Given the description of an element on the screen output the (x, y) to click on. 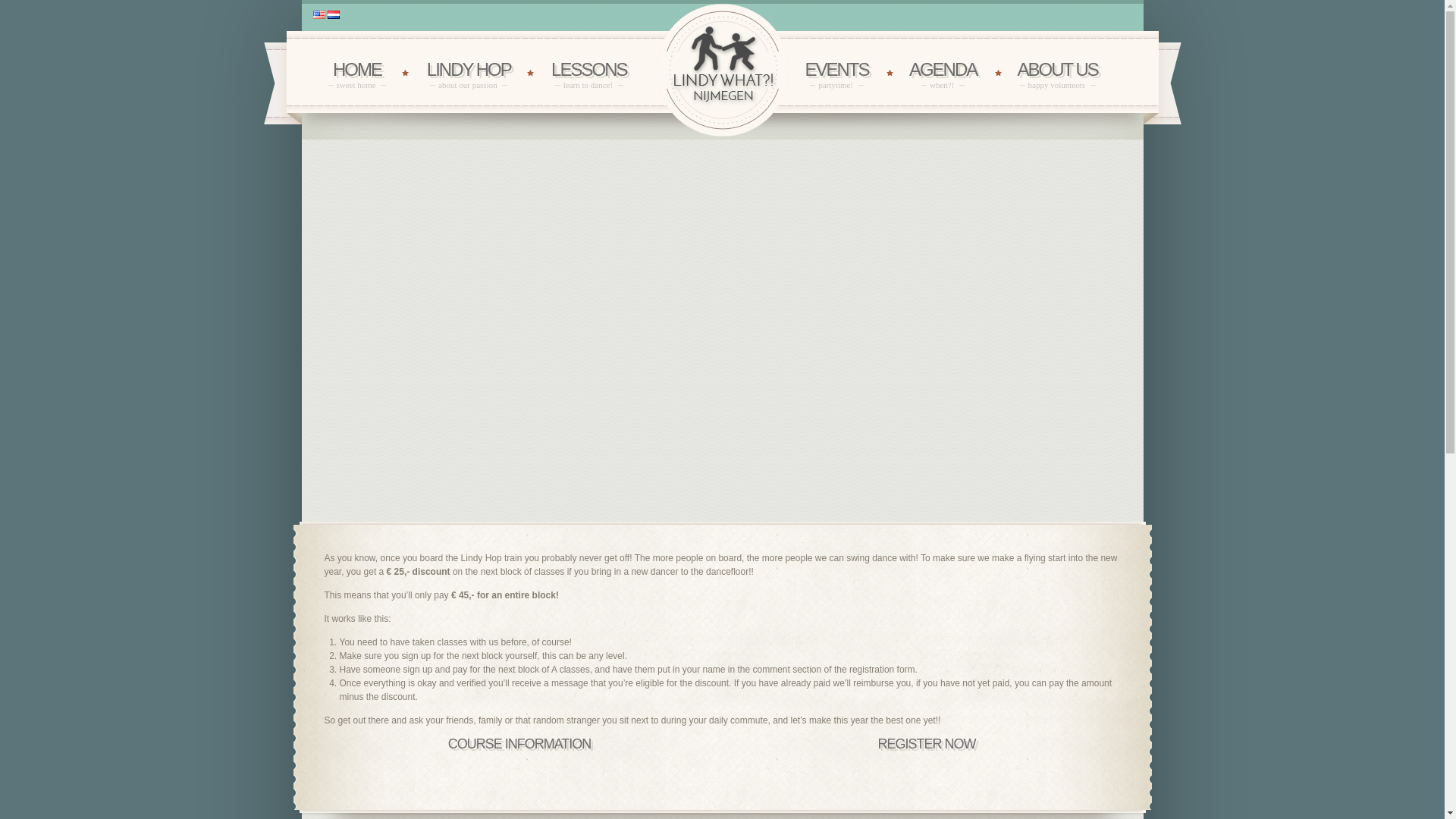
home (588, 74)
